Given the description of an element on the screen output the (x, y) to click on. 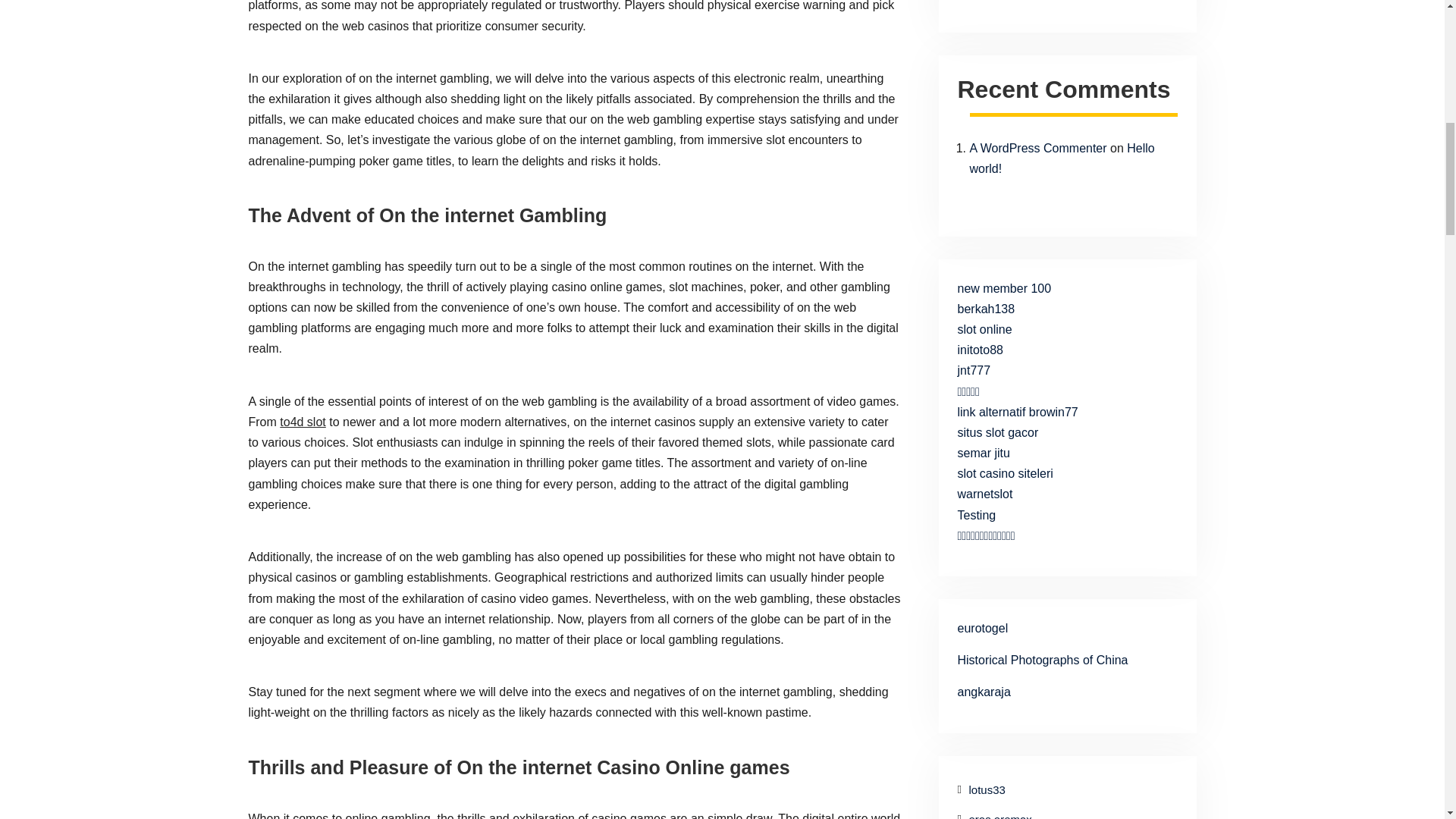
to4d slot (301, 421)
link alternatif browin77 (1016, 411)
situs slot gacor (997, 431)
jnt777 (973, 369)
initoto88 (979, 349)
semar jitu (982, 452)
Hello world! (1061, 158)
berkah138 (985, 308)
A WordPress Commenter (1037, 147)
new member 100 (1003, 287)
slot online (983, 328)
